Given the description of an element on the screen output the (x, y) to click on. 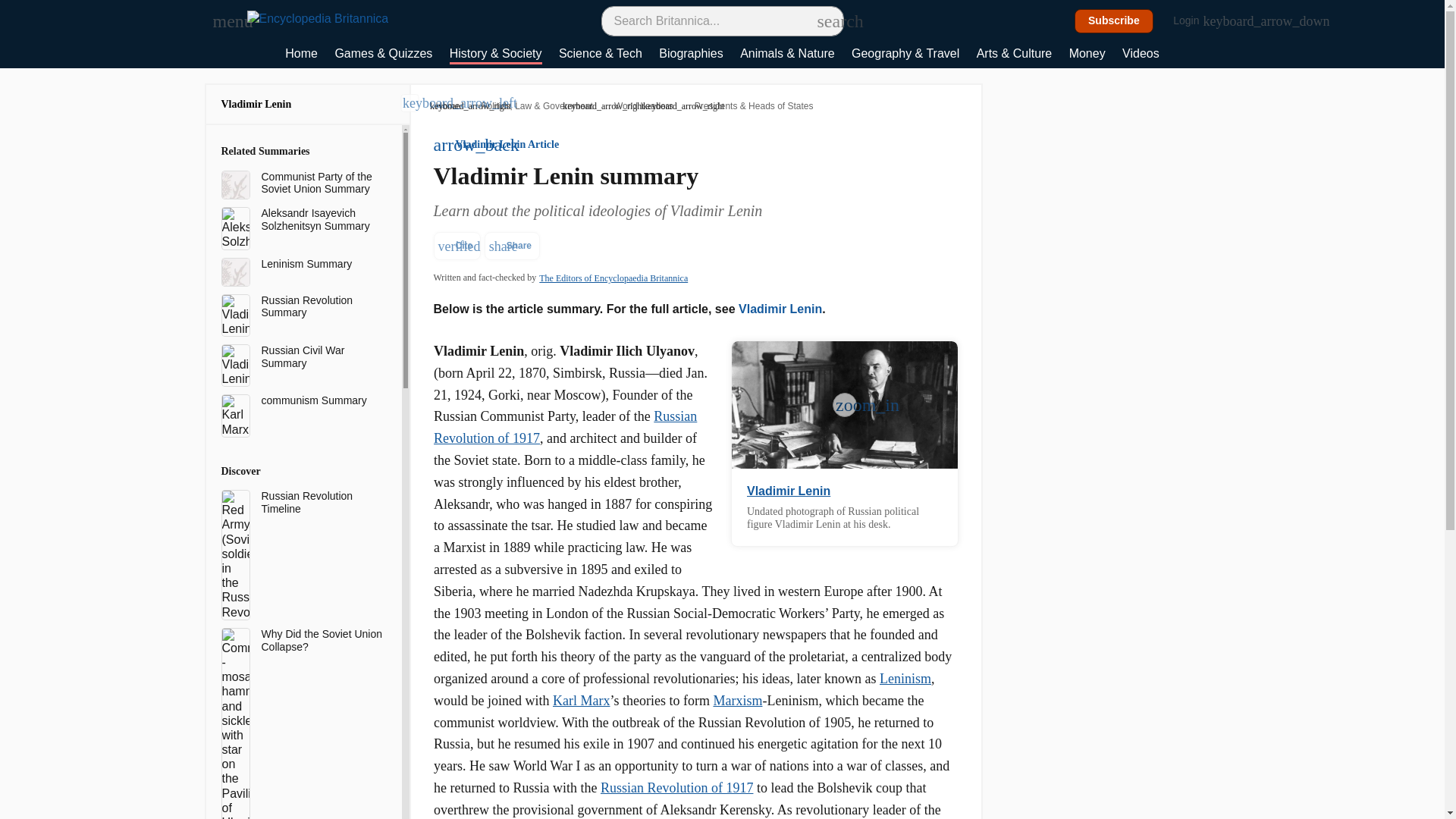
Subscribe (1114, 21)
Login (1194, 20)
Click here to search (825, 20)
